Given the description of an element on the screen output the (x, y) to click on. 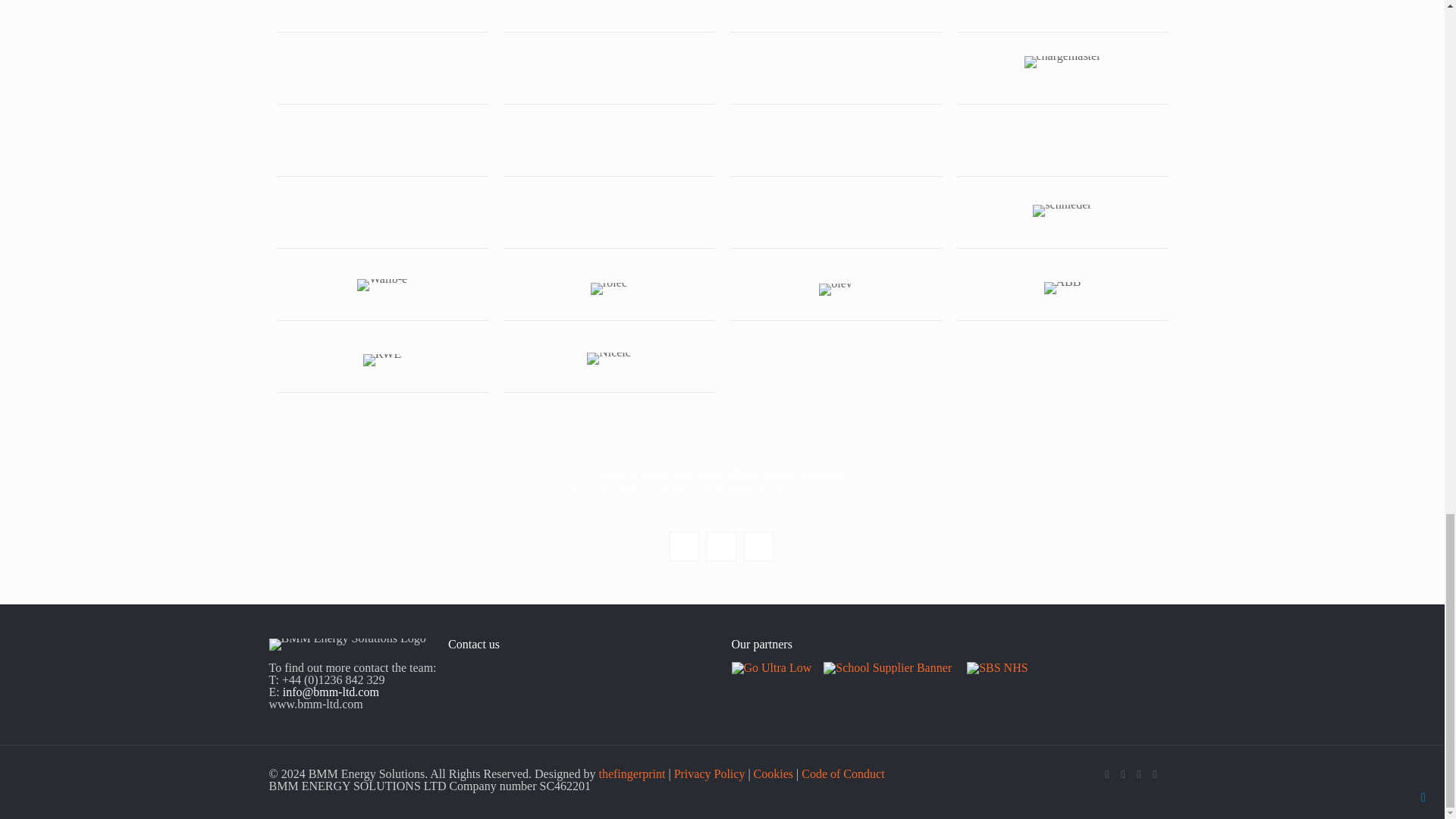
thefingerprint (631, 772)
RSS (1155, 774)
Go Ultra Low (770, 666)
SBS NHS (996, 666)
Cookies (773, 772)
Code of Conduct (842, 772)
Facebook (1106, 774)
Privacy Policy (709, 772)
LinkedIn (1138, 774)
School Suppliers (888, 666)
